Given the description of an element on the screen output the (x, y) to click on. 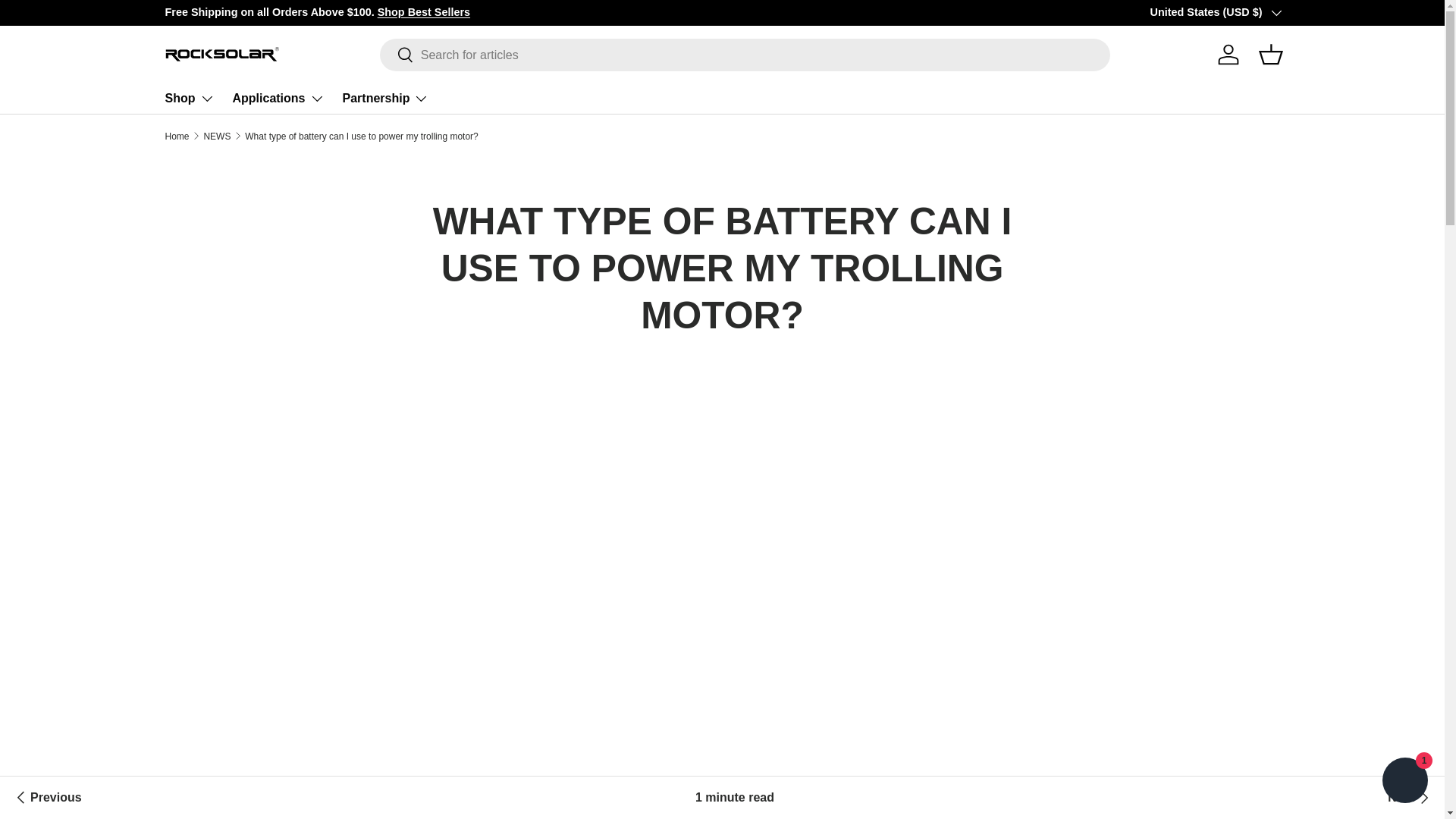
SKIP TO CONTENT (69, 21)
Shopify online store chat (1404, 781)
02. Solar Panels (1395, 11)
Shop Collection (1395, 11)
Log in (1227, 54)
Shop Best Sellers (423, 11)
Search (396, 55)
Shop (189, 98)
WHAT ARE LIFEPO4 BATTERIES? (46, 797)
Basket (1270, 54)
All collections (423, 11)
